Given the description of an element on the screen output the (x, y) to click on. 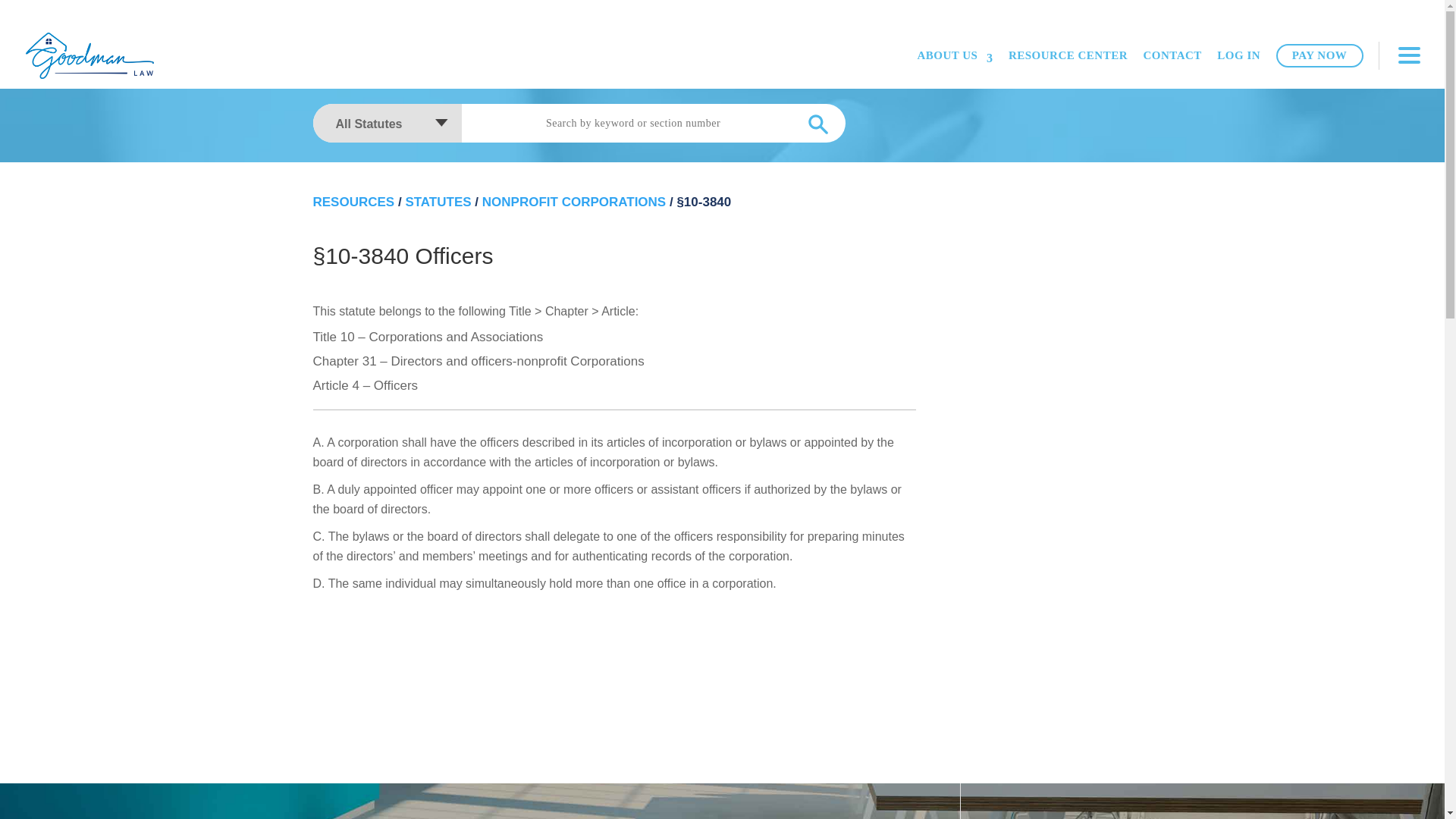
LOG IN (1238, 55)
Search (818, 123)
STATUTES (437, 201)
Search (818, 123)
NONPROFIT CORPORATIONS (573, 201)
ABOUT US (954, 55)
RESOURCES (353, 201)
RESOURCE CENTER (1067, 55)
PAY NOW (1319, 55)
CONTACT (1171, 55)
